Given the description of an element on the screen output the (x, y) to click on. 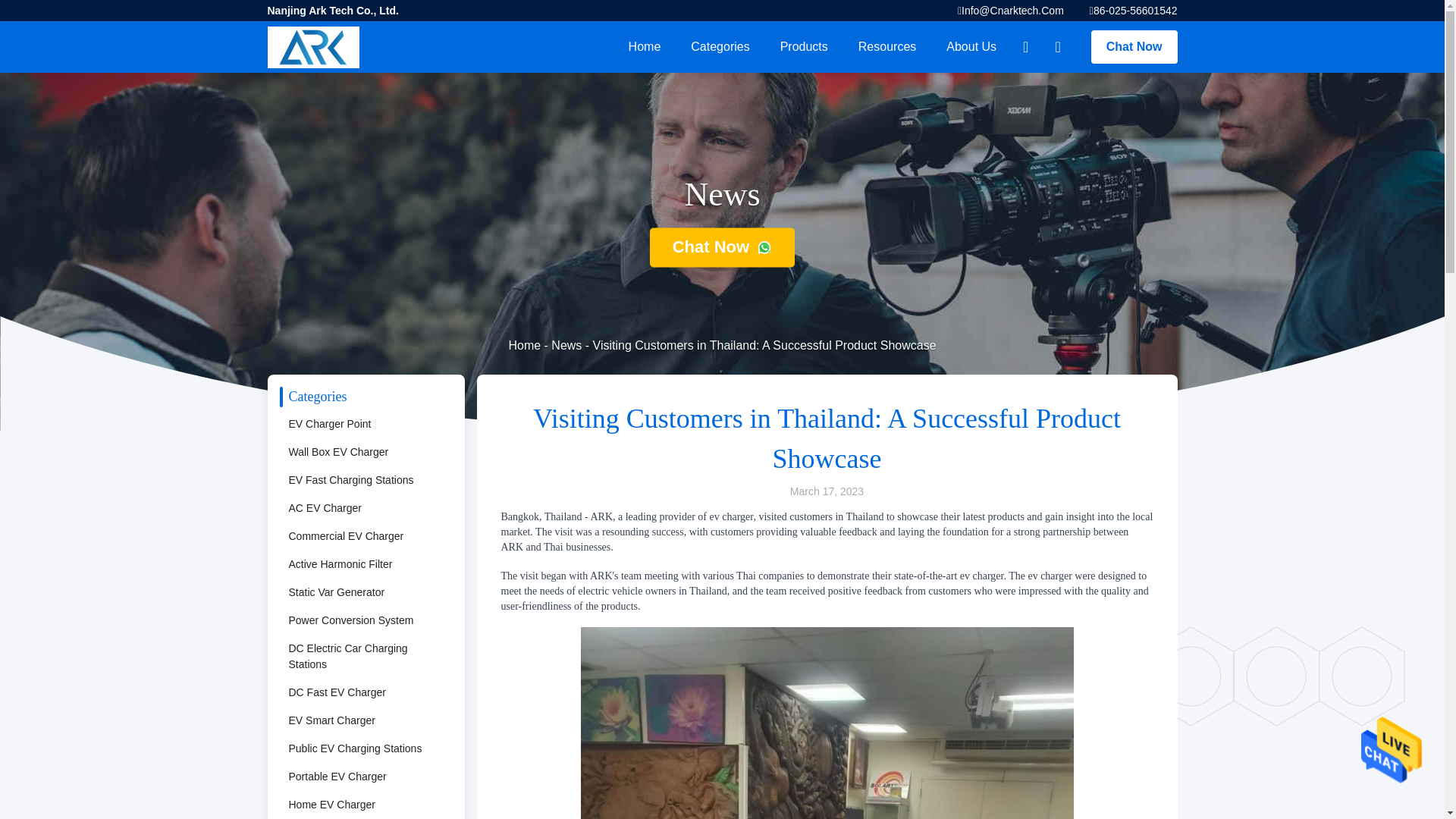
Quote (1133, 46)
Categories (719, 46)
Home (644, 46)
Chat Now (1133, 46)
Home (644, 46)
